Given the description of an element on the screen output the (x, y) to click on. 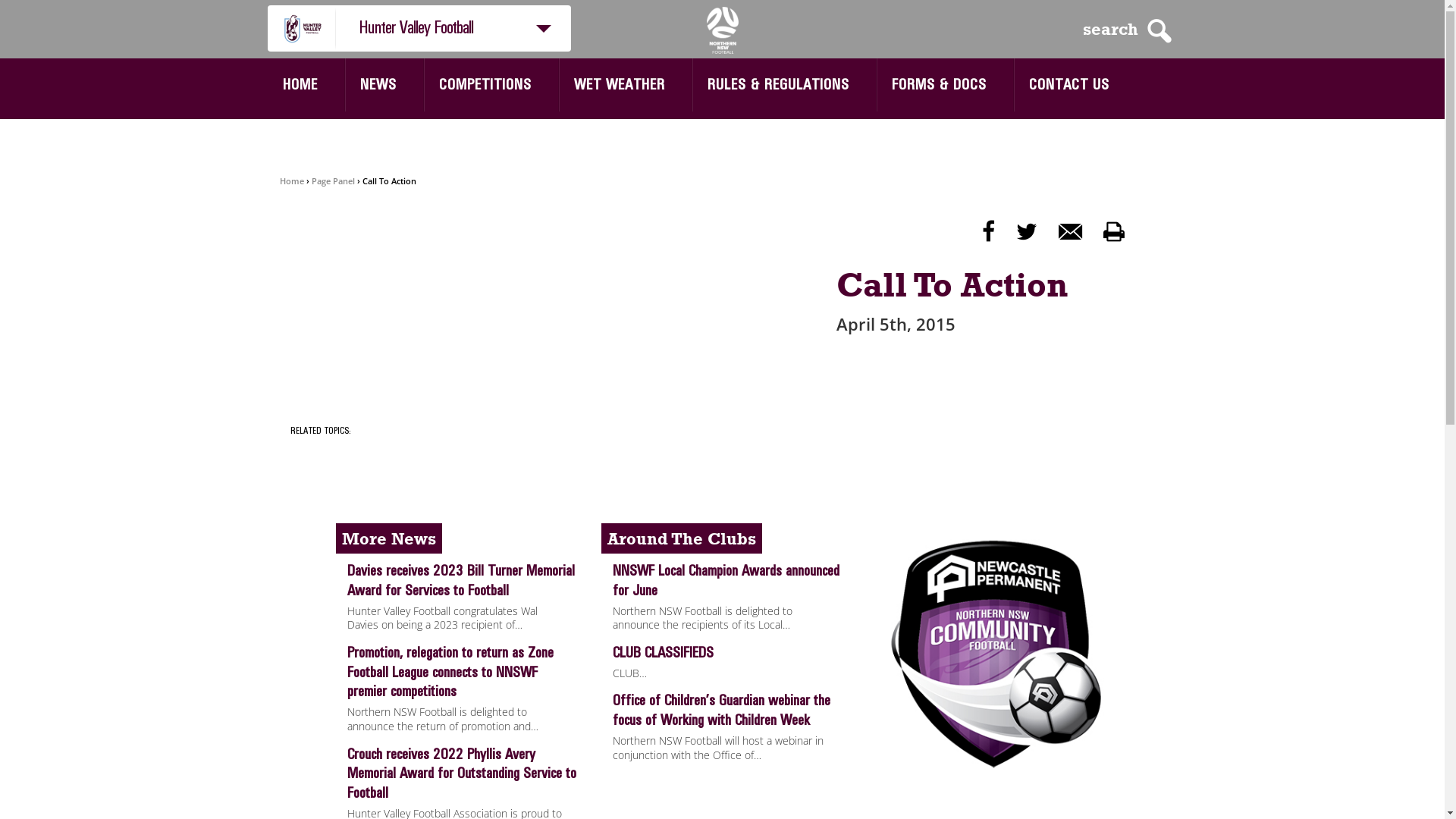
NNSWF Element type: text (722, 29)
f Element type: text (987, 231)
HOME Element type: text (299, 84)
FORMS & DOCS Element type: text (938, 84)
t Element type: text (1026, 231)
m Element type: text (1070, 231)
CONTACT US Element type: text (1068, 84)
Page Panel Element type: text (332, 180)
NEWS Element type: text (377, 84)
Home Element type: text (291, 180)
NNSWF Local Champion Awards announced for June Element type: text (721, 582)
RULES & REGULATIONS Element type: text (777, 84)
CLUB CLASSIFIEDS Element type: text (721, 654)
S Element type: text (1158, 30)
p Element type: text (1112, 231)
WET WEATHER Element type: text (618, 84)
COMPETITIONS Element type: text (484, 84)
